Given the description of an element on the screen output the (x, y) to click on. 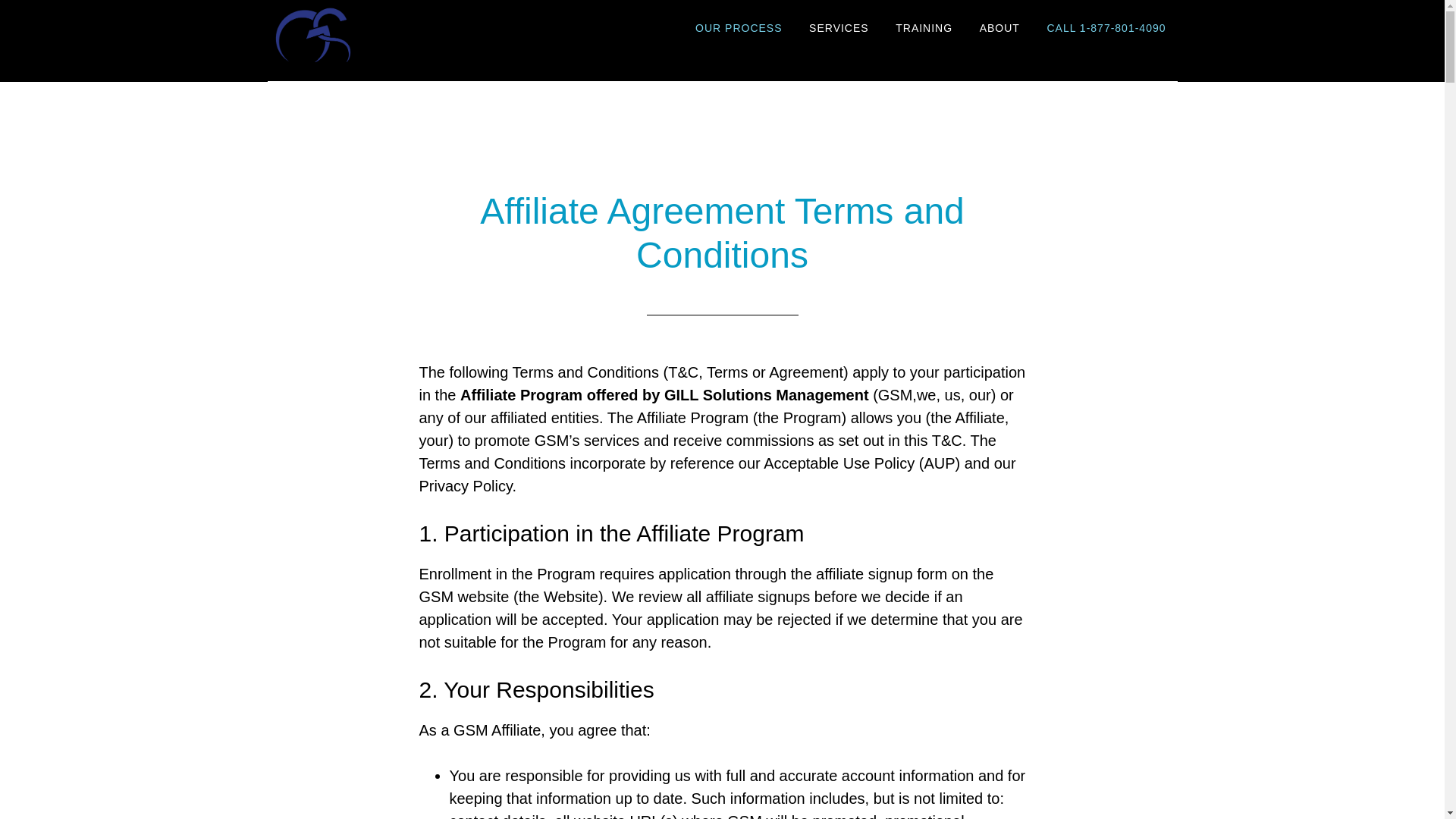
ABOUT (999, 28)
OUR PROCESS (738, 28)
CALL 1-877-801-4090 (1105, 28)
GILL SOLUTIONS (403, 33)
TRAINING (923, 28)
SERVICES (838, 28)
